Given the description of an element on the screen output the (x, y) to click on. 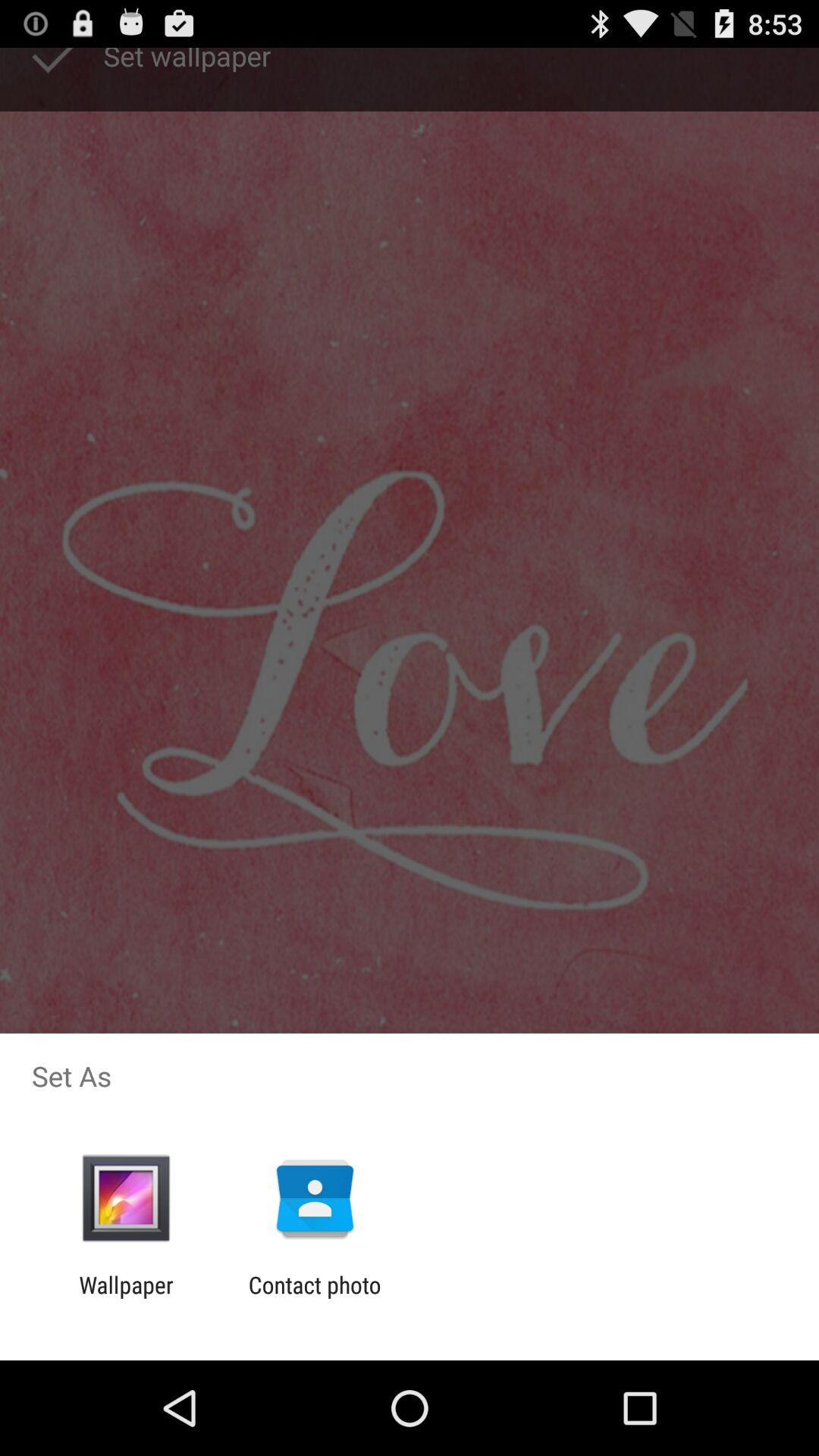
flip to the contact photo item (314, 1298)
